Given the description of an element on the screen output the (x, y) to click on. 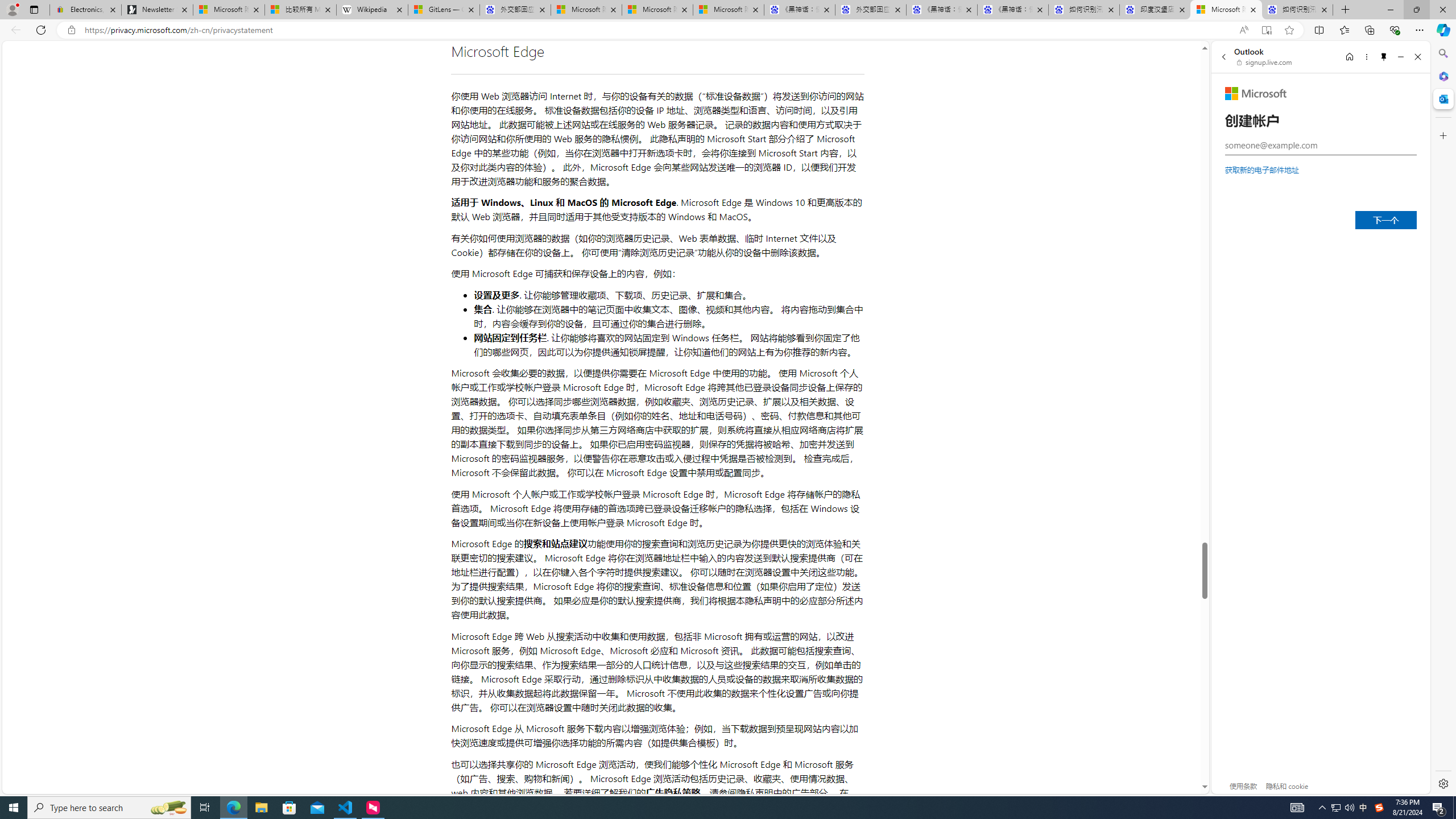
Restore (1416, 9)
Microsoft 365 (1442, 76)
New Tab (1346, 9)
Favorites (1344, 29)
Settings (1442, 783)
Customize (1442, 135)
More options (1366, 56)
Close (1417, 56)
Back (1223, 56)
Copilot (Ctrl+Shift+.) (1442, 29)
Newsletter Sign Up (157, 9)
